Given the description of an element on the screen output the (x, y) to click on. 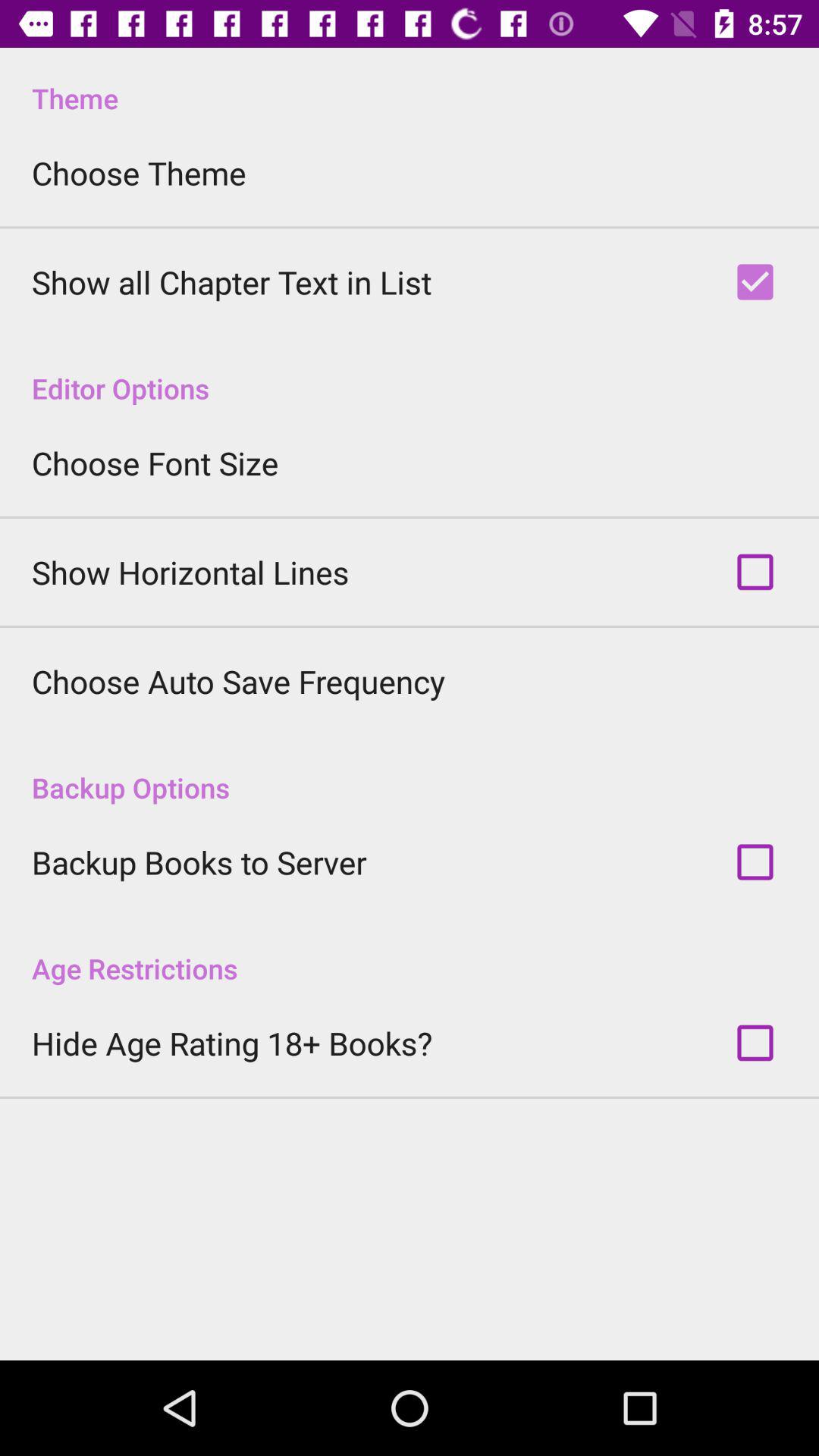
select item below the theme app (138, 172)
